Given the description of an element on the screen output the (x, y) to click on. 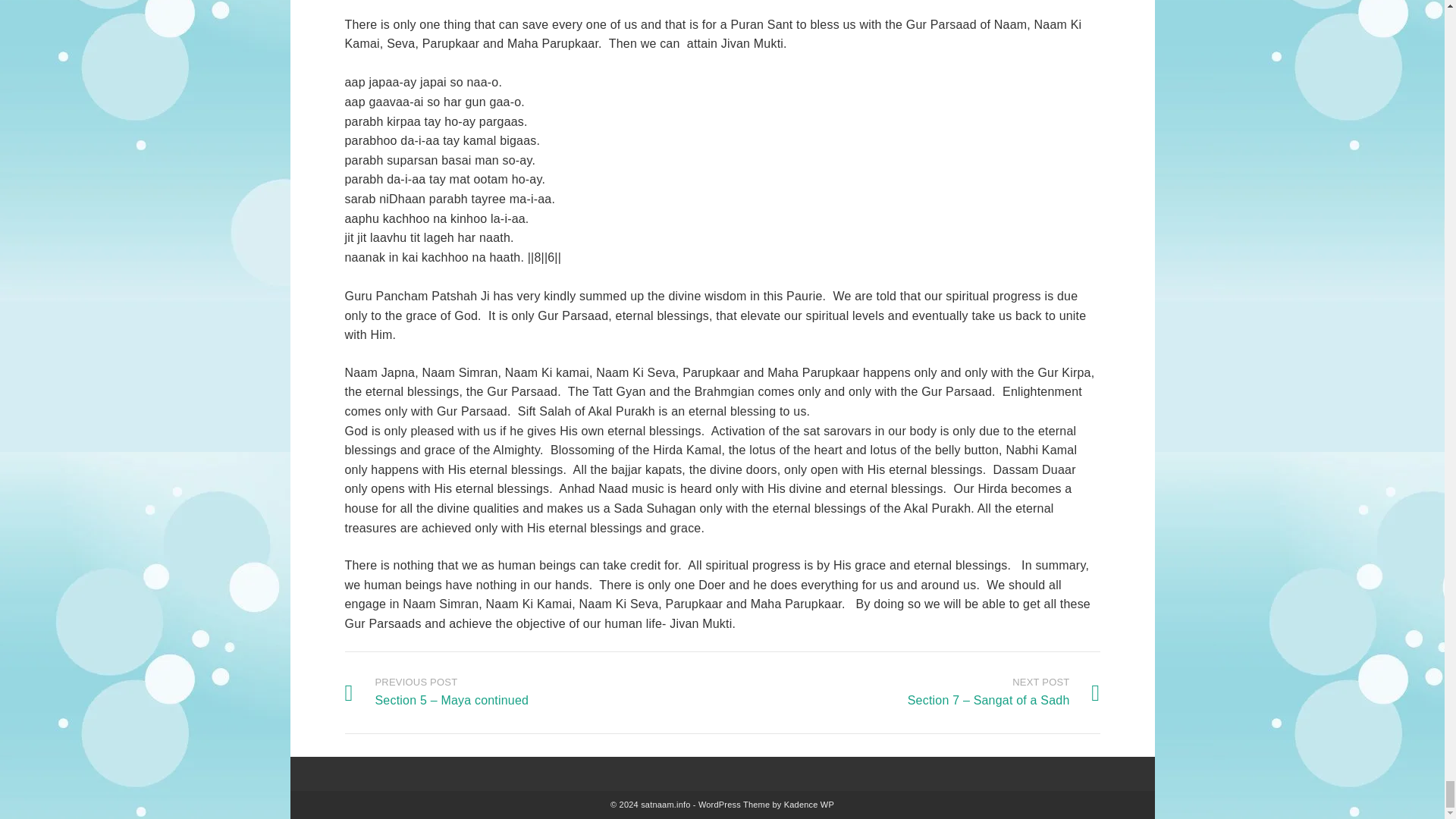
Kadence WP (809, 804)
